Given the description of an element on the screen output the (x, y) to click on. 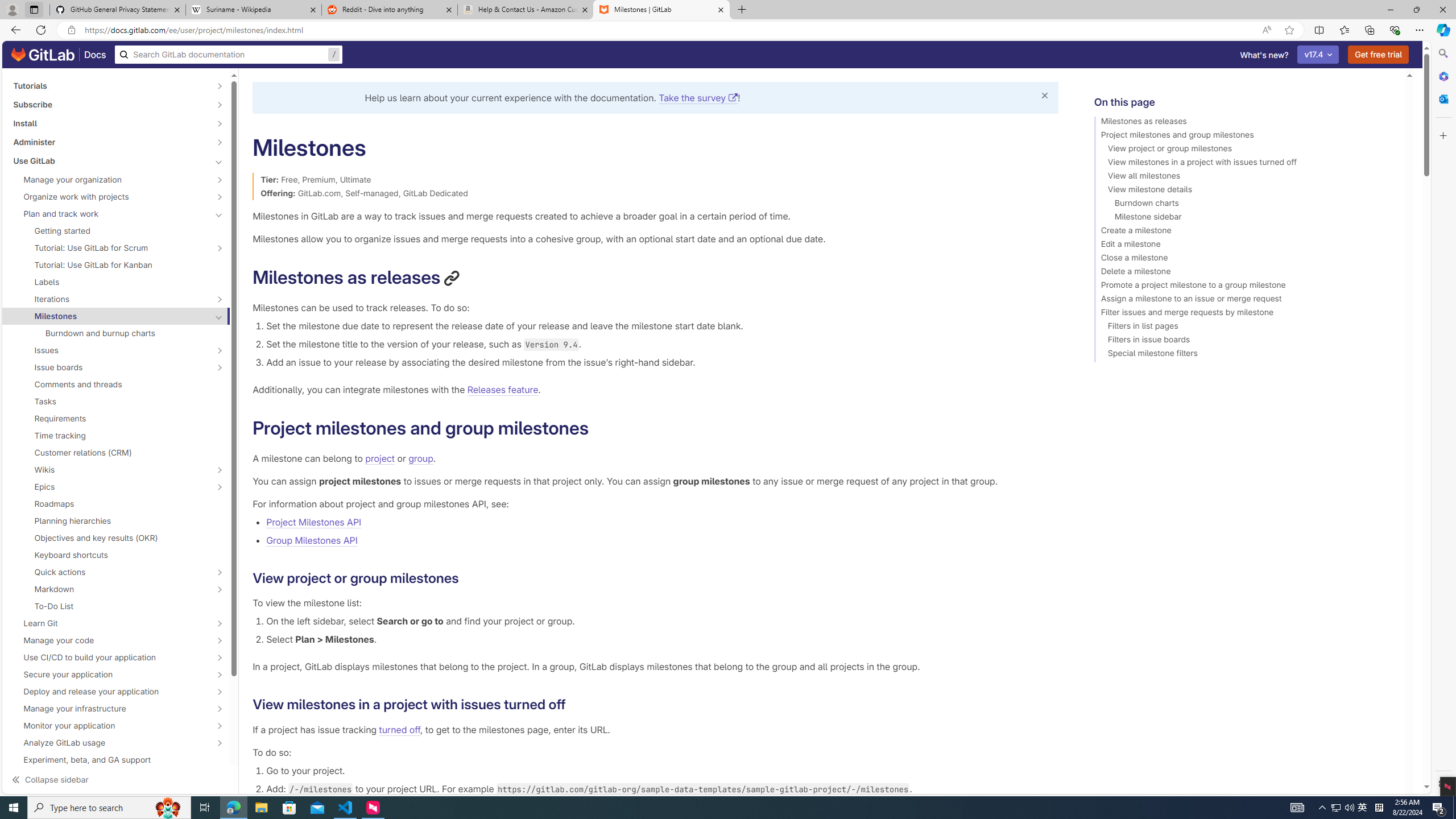
GitLab Duo (109, 795)
Project milestones and group milestones (1244, 136)
Comments and threads (116, 384)
View milestone details (1244, 191)
Dismiss (1043, 95)
Issues (109, 349)
Milestone sidebar (1244, 218)
Edit a milestone (1244, 246)
Select Plan > Milestones. (662, 639)
Milestones as releases (1244, 123)
Assign a milestone to an issue or merge request (1244, 300)
Group Milestones API (312, 539)
GitHub General Privacy Statement - GitHub Docs (117, 9)
Project Milestones API (662, 521)
